Given the description of an element on the screen output the (x, y) to click on. 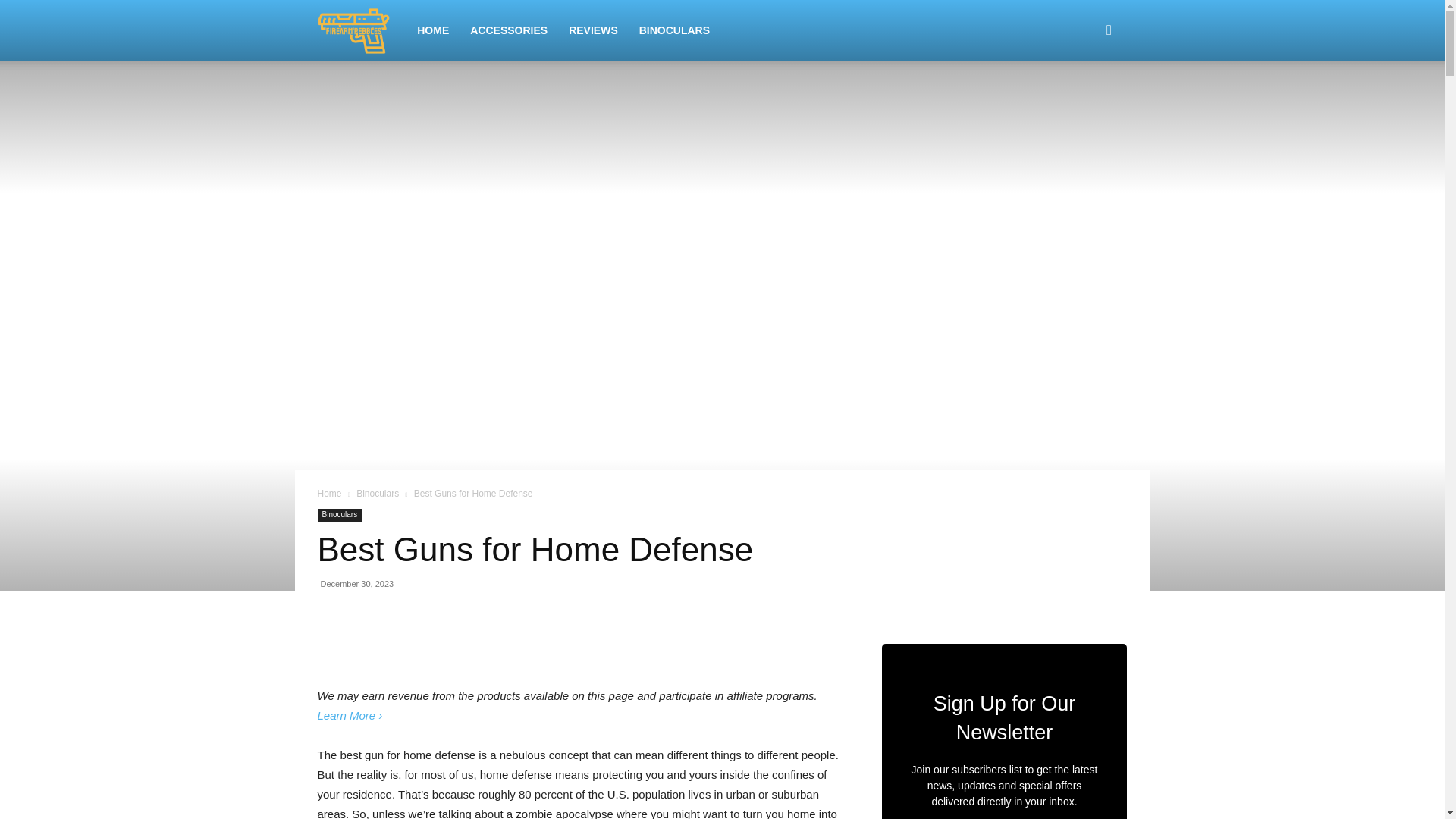
Firearm Pebbles (361, 30)
ACCESSORIES (508, 30)
Home (328, 493)
Search (1085, 102)
REVIEWS (592, 30)
View all posts in Binoculars (377, 493)
BINOCULARS (674, 30)
Binoculars (339, 514)
Binoculars (377, 493)
